Given the description of an element on the screen output the (x, y) to click on. 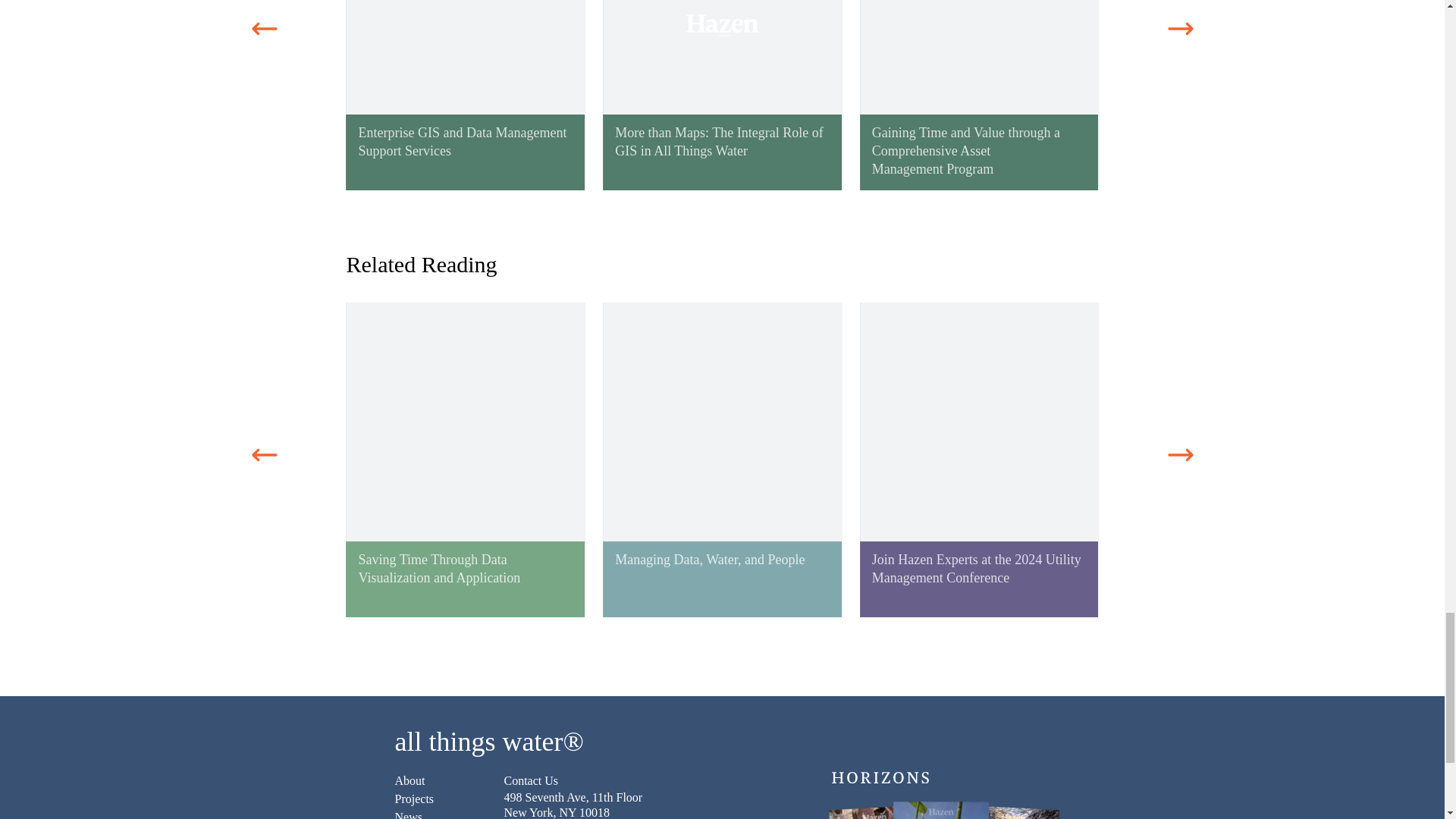
Enterprise GIS and Data Management Support Services (465, 95)
More than Maps: The Integral Role of GIS in All Things Water (721, 95)
